Given the description of an element on the screen output the (x, y) to click on. 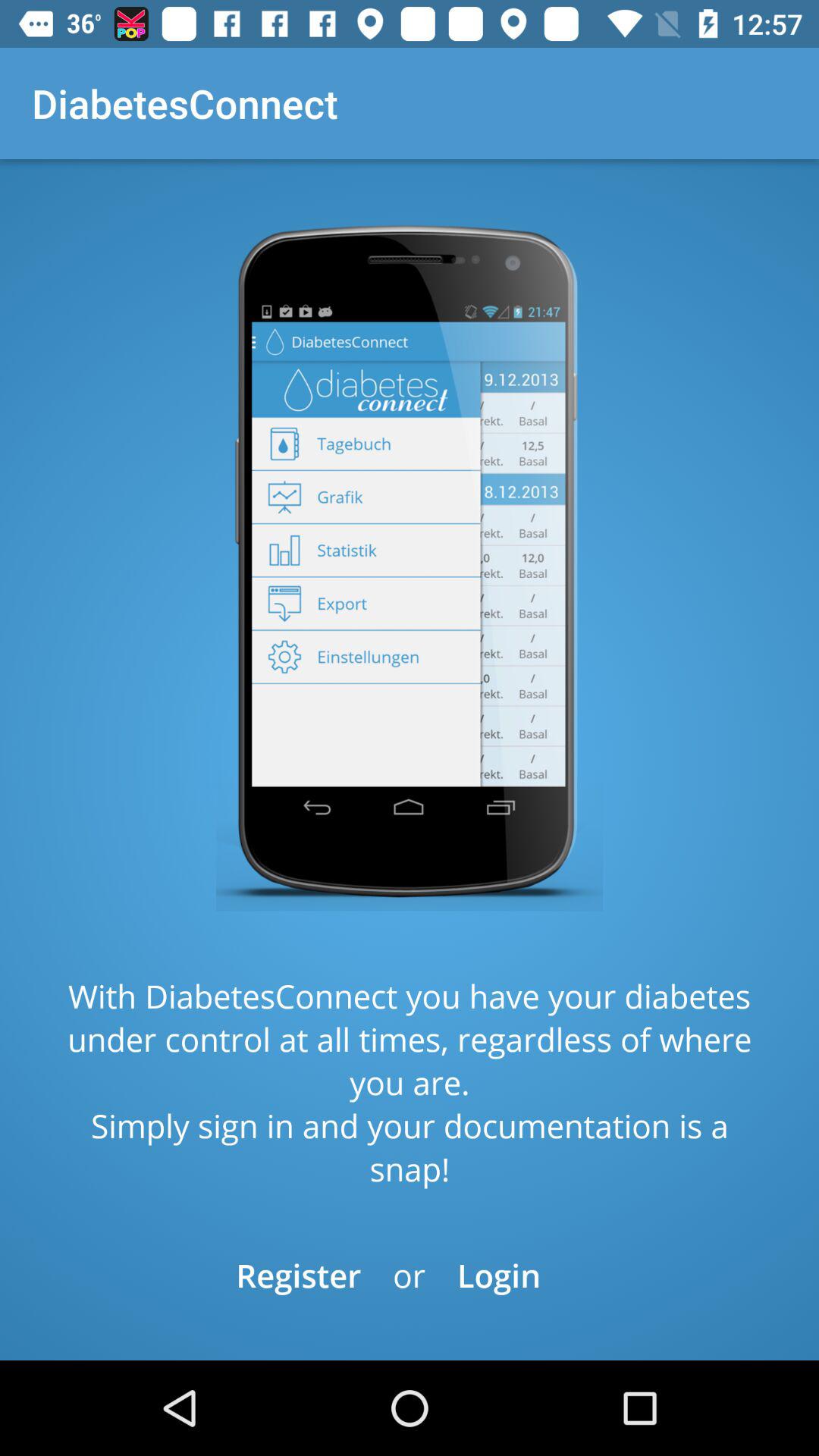
open the item below the with diabetesconnect you icon (498, 1275)
